Given the description of an element on the screen output the (x, y) to click on. 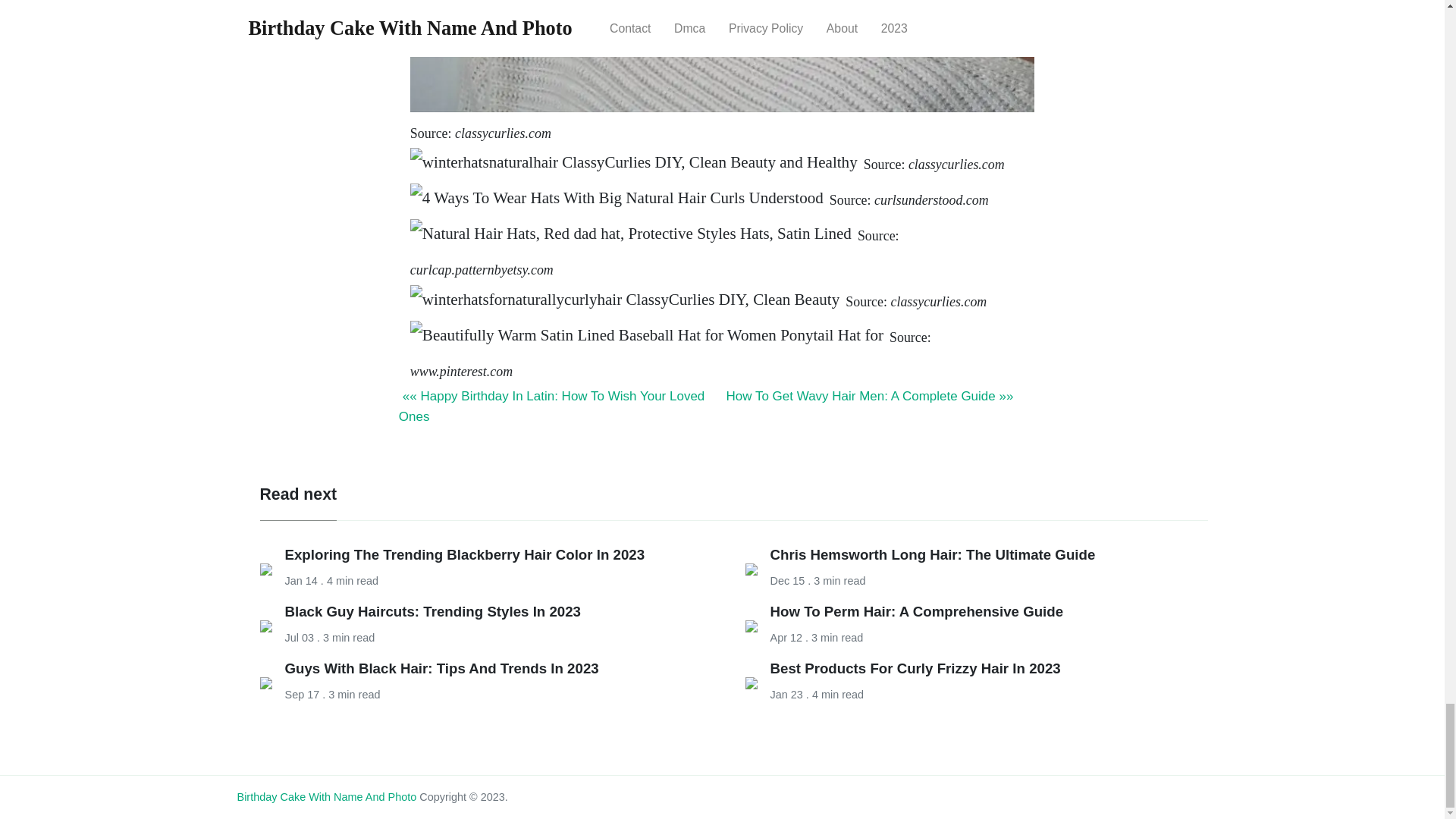
Chris Hemsworth Long Hair: The Ultimate Guide (933, 554)
How To Perm Hair: A Comprehensive Guide (917, 611)
Birthday Cake With Name And Photo (325, 797)
Guys With Black Hair: Tips And Trends In 2023 (441, 668)
Best Products For Curly Frizzy Hair In 2023 (915, 668)
Exploring The Trending Blackberry Hair Color In 2023 (465, 554)
Black Guy Haircuts: Trending Styles In 2023 (432, 611)
